Given the description of an element on the screen output the (x, y) to click on. 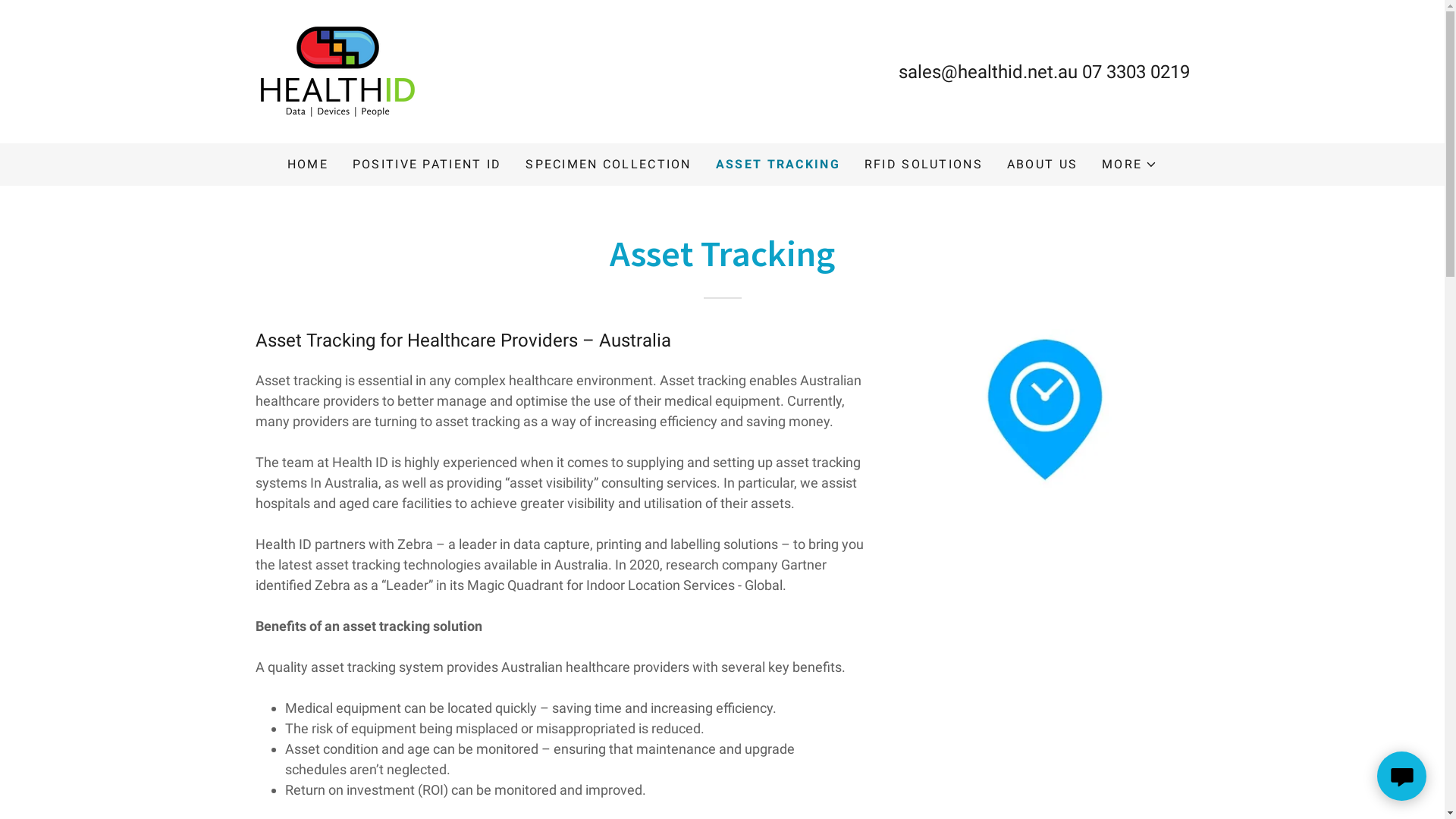
ABOUT US Element type: text (1042, 164)
sales@healthid.net.au Element type: text (986, 70)
HOME Element type: text (307, 164)
POSITIVE PATIENT ID Element type: text (426, 164)
ASSET TRACKING Element type: text (777, 164)
07 3303 0219 Element type: text (1135, 70)
MORE Element type: text (1129, 164)
RFID SOLUTIONS Element type: text (923, 164)
Health ID Element type: hover (336, 70)
SPECIMEN COLLECTION Element type: text (607, 164)
